Given the description of an element on the screen output the (x, y) to click on. 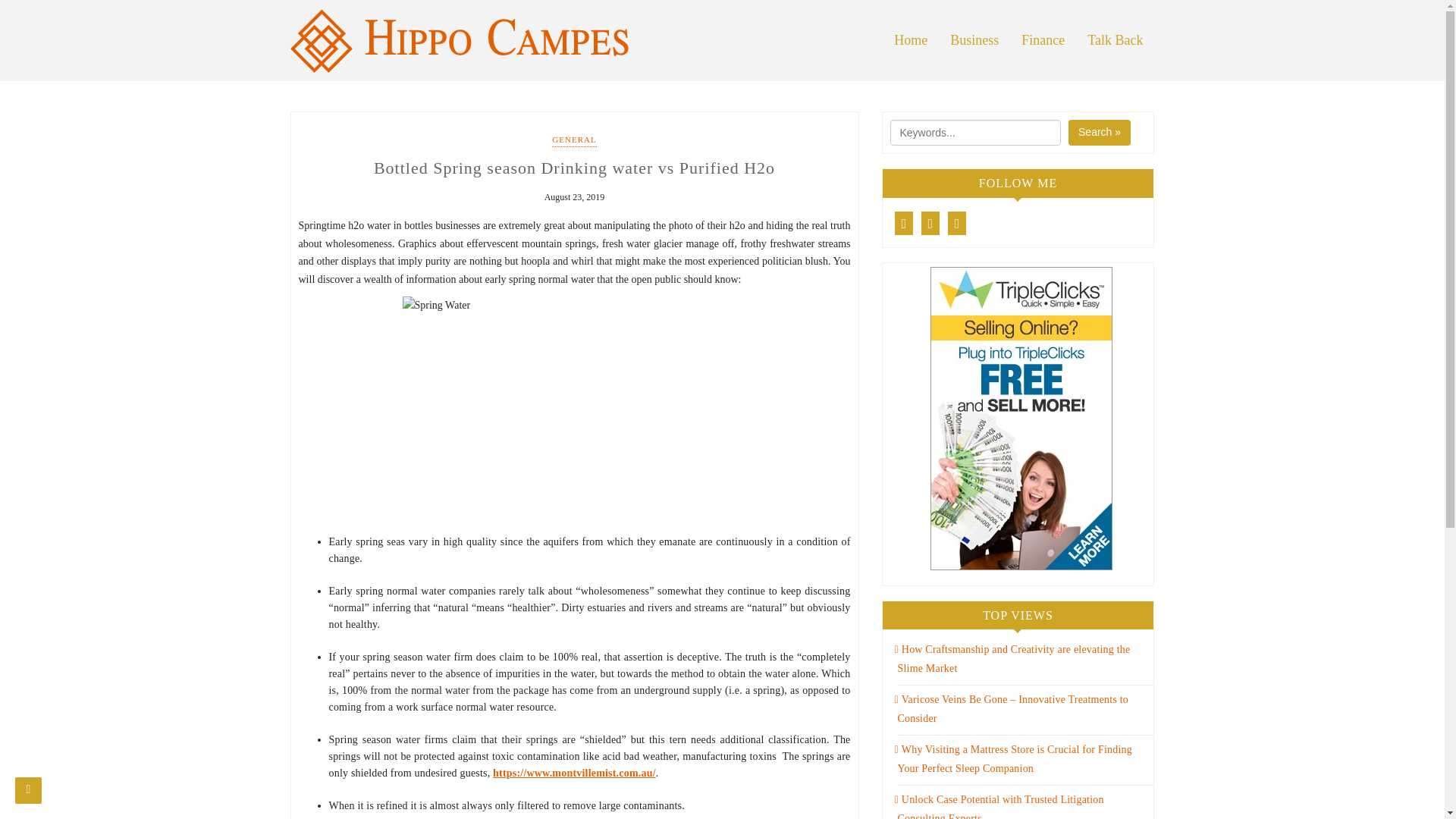
Talk Back (1114, 40)
GENERAL (573, 141)
